Given the description of an element on the screen output the (x, y) to click on. 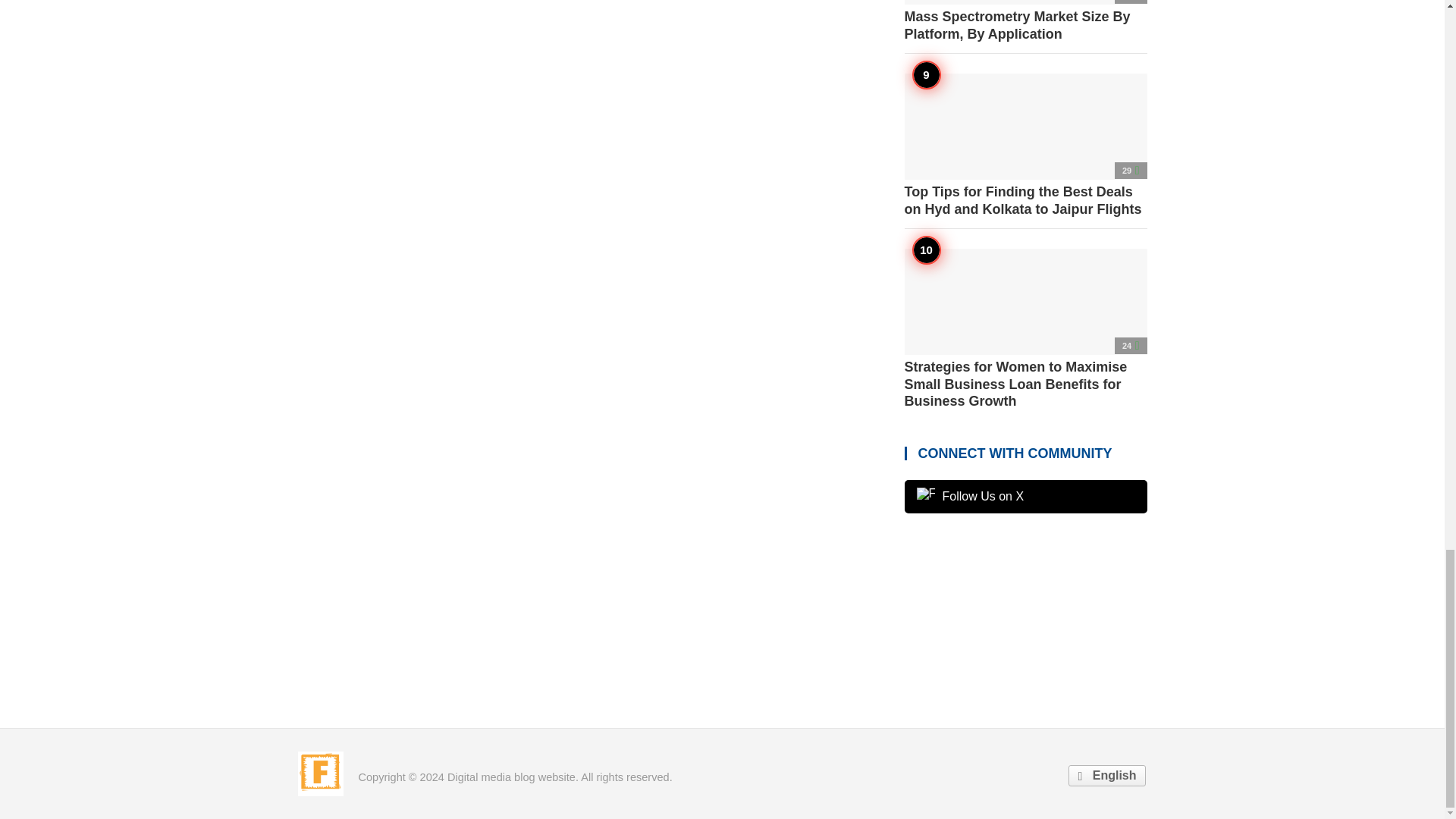
Mass Spectrometry Market Size By Platform, By Application (1025, 21)
